Given the description of an element on the screen output the (x, y) to click on. 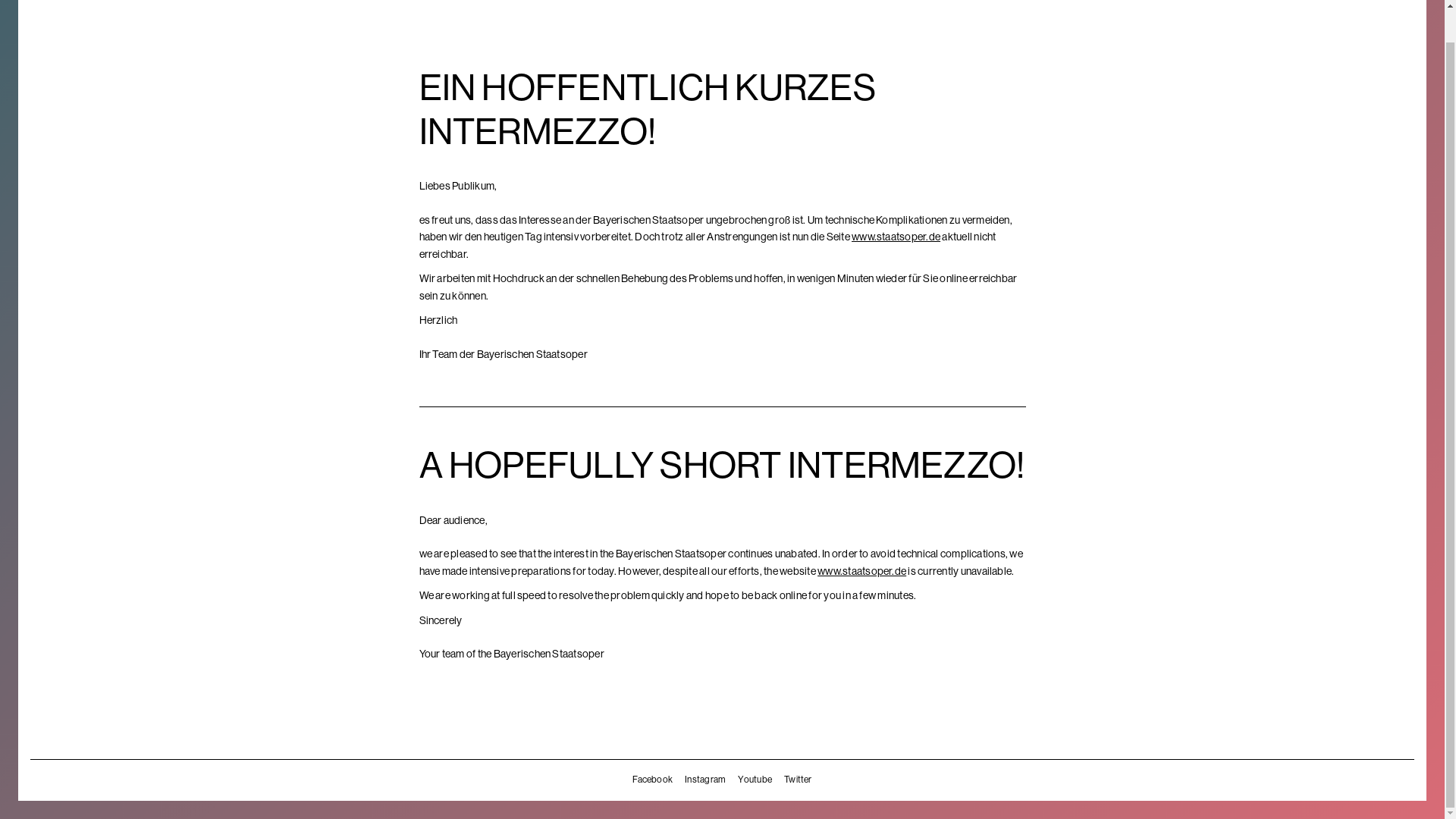
Facebook (651, 778)
Twitter (798, 778)
www.staatsoper.de (860, 571)
Instagram (704, 778)
www.staatsoper.de (895, 236)
Youtube (754, 778)
